Given the description of an element on the screen output the (x, y) to click on. 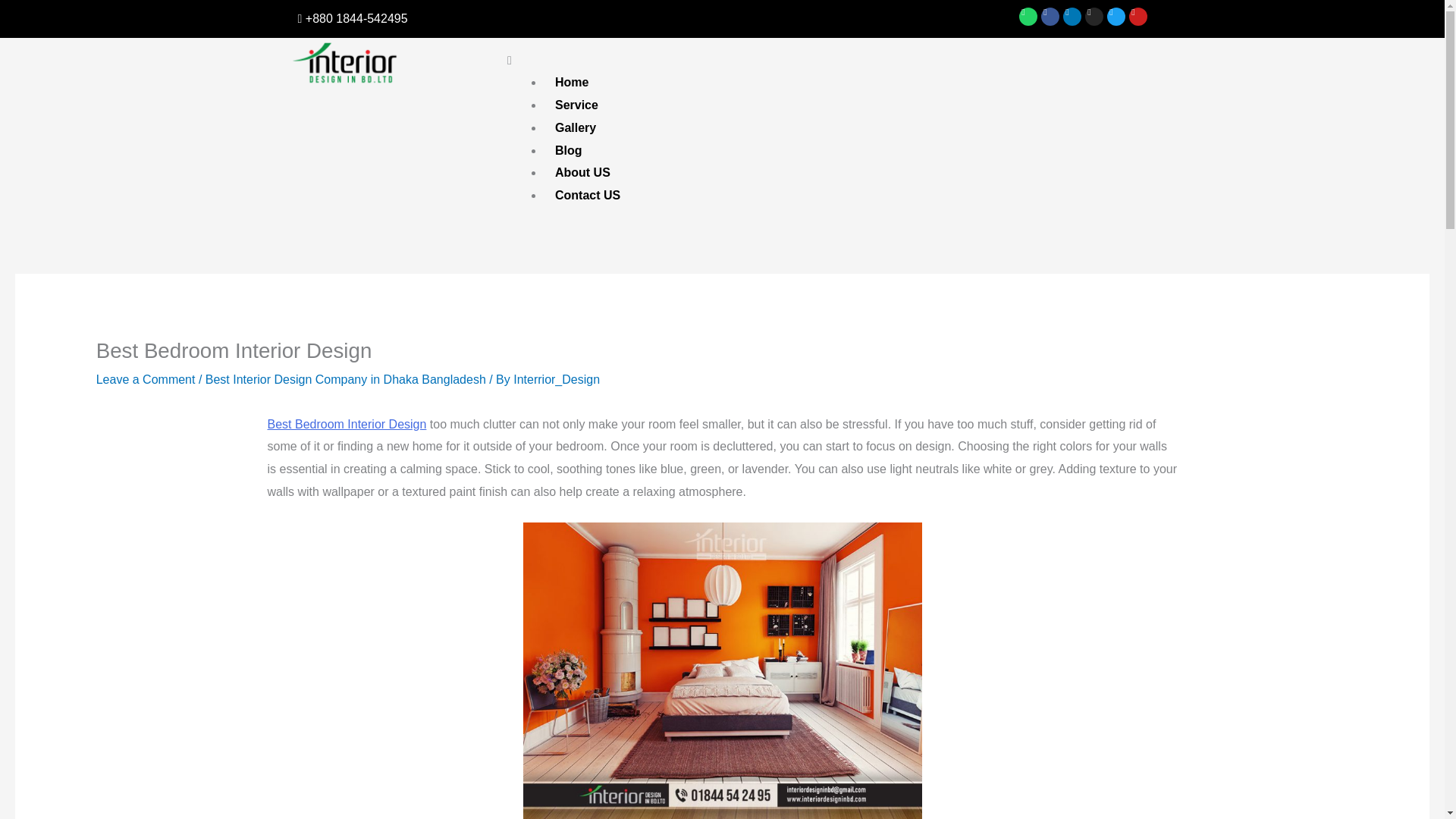
Twitter (1115, 16)
Best Bedroom Interior Design (346, 423)
Home (571, 81)
Youtube (1137, 16)
Linkedin (1071, 16)
Instagram (1093, 16)
Leave a Comment (145, 379)
Whatsapp (1027, 16)
About US (582, 172)
Contact US (587, 194)
Facebook (1049, 16)
Gallery (575, 127)
Service (576, 104)
Best Interior Design Company in Dhaka Bangladesh (345, 379)
Blog (568, 150)
